Given the description of an element on the screen output the (x, y) to click on. 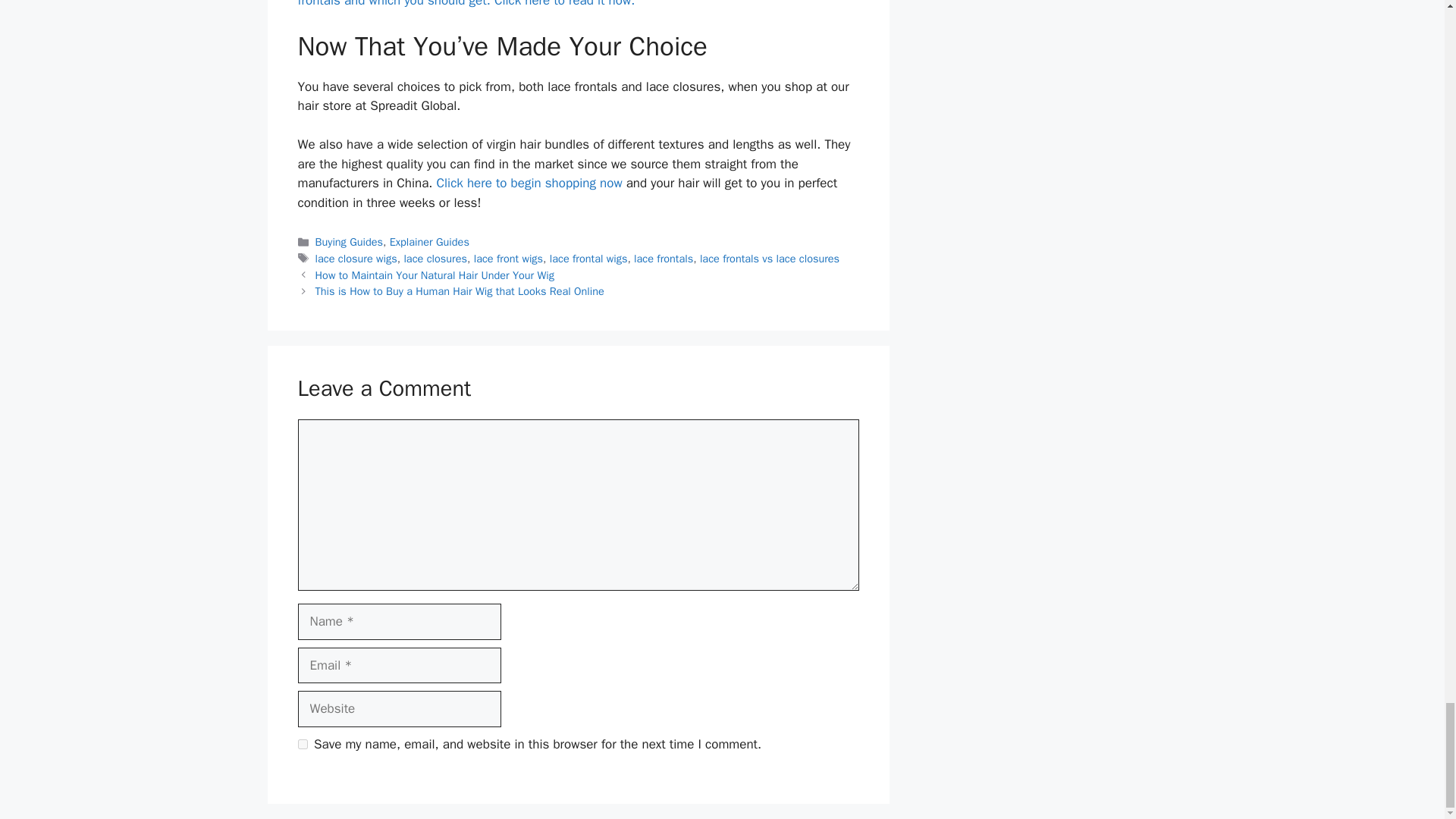
yes (302, 744)
